Given the description of an element on the screen output the (x, y) to click on. 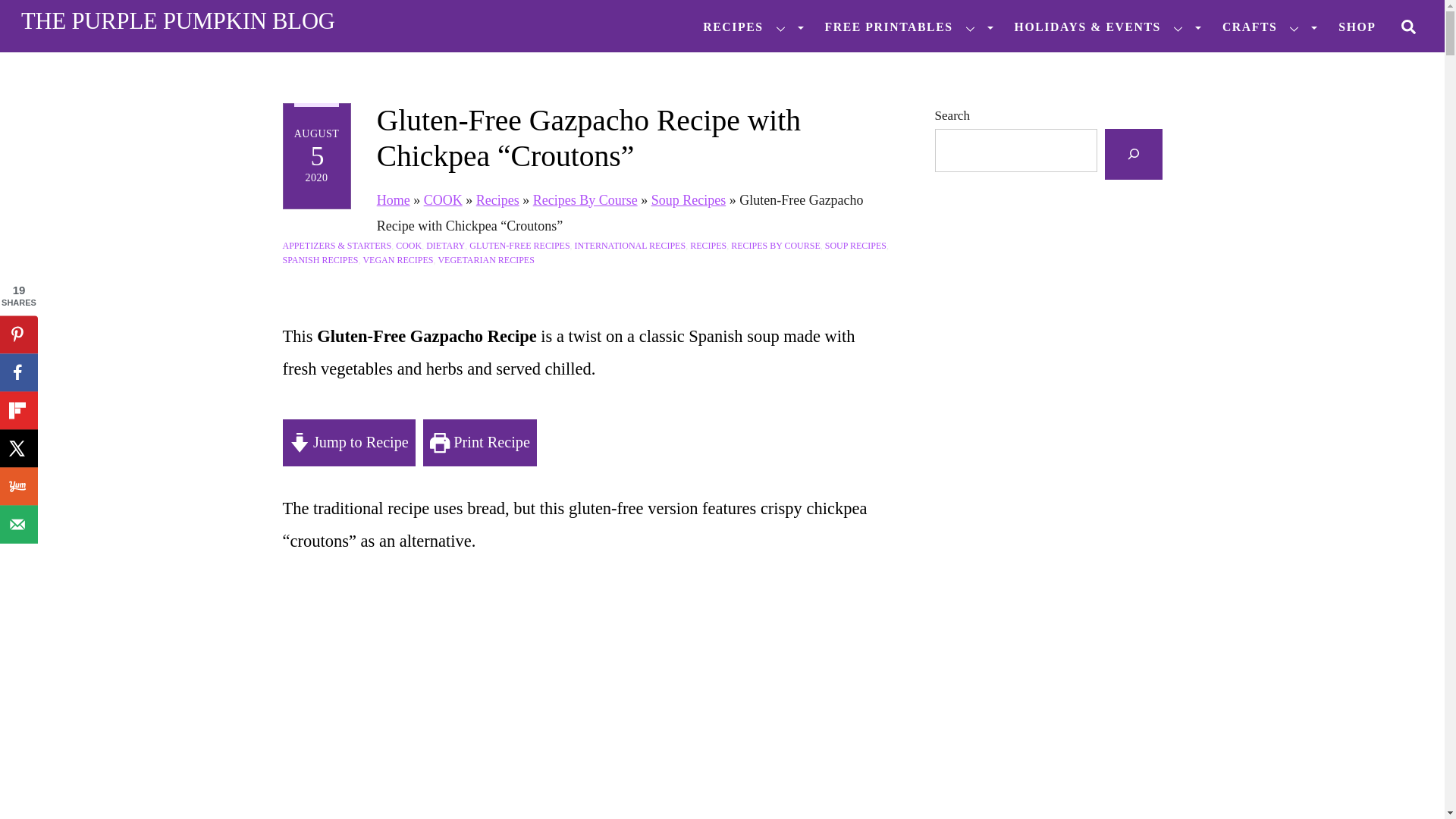
RECIPES (746, 27)
THE PURPLE PUMPKIN BLOG (177, 21)
Search (1408, 24)
The Purple Pumpkin Blog (177, 21)
